Given the description of an element on the screen output the (x, y) to click on. 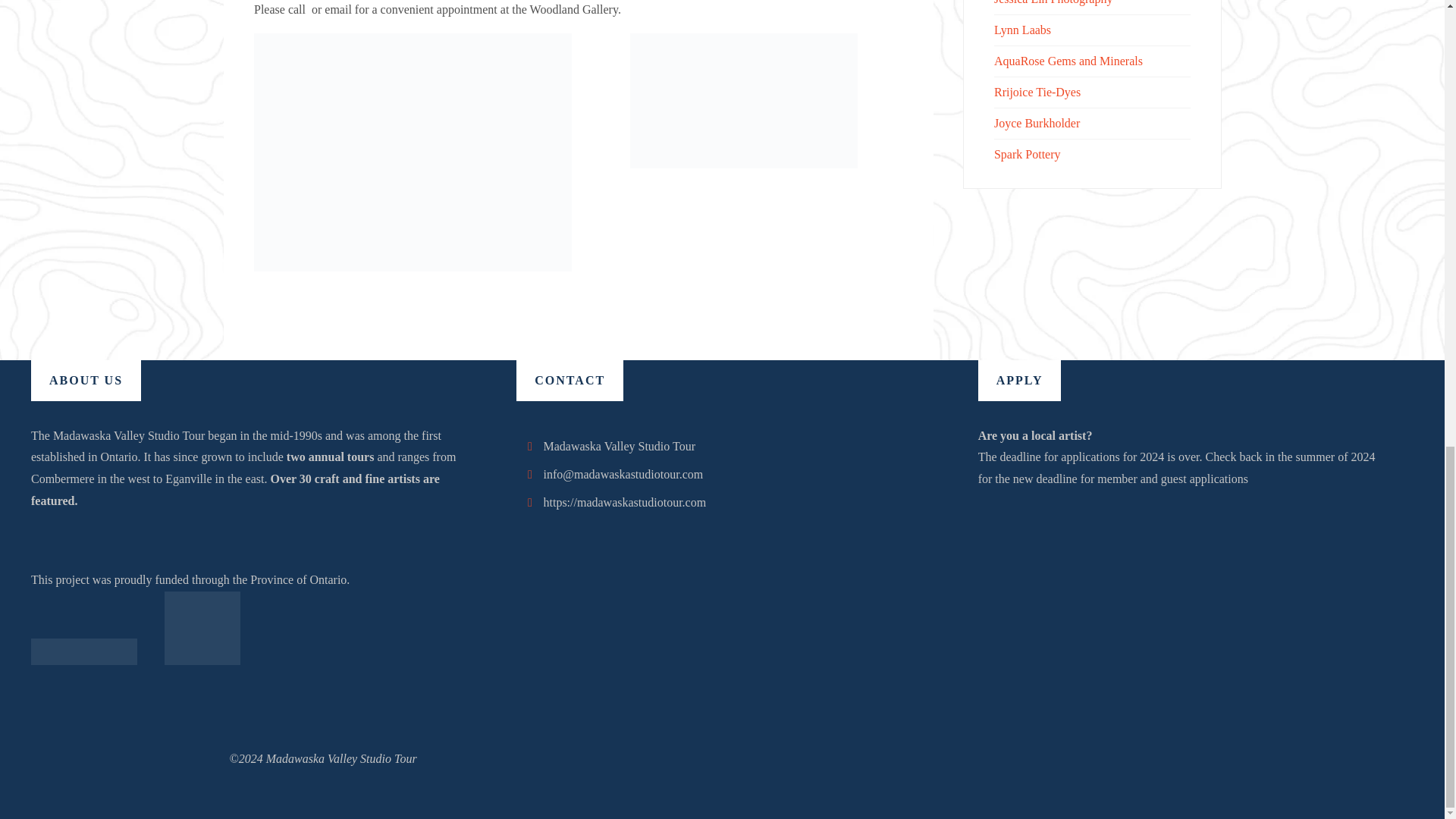
Address (529, 446)
Web (529, 501)
E-mail (529, 474)
